Given the description of an element on the screen output the (x, y) to click on. 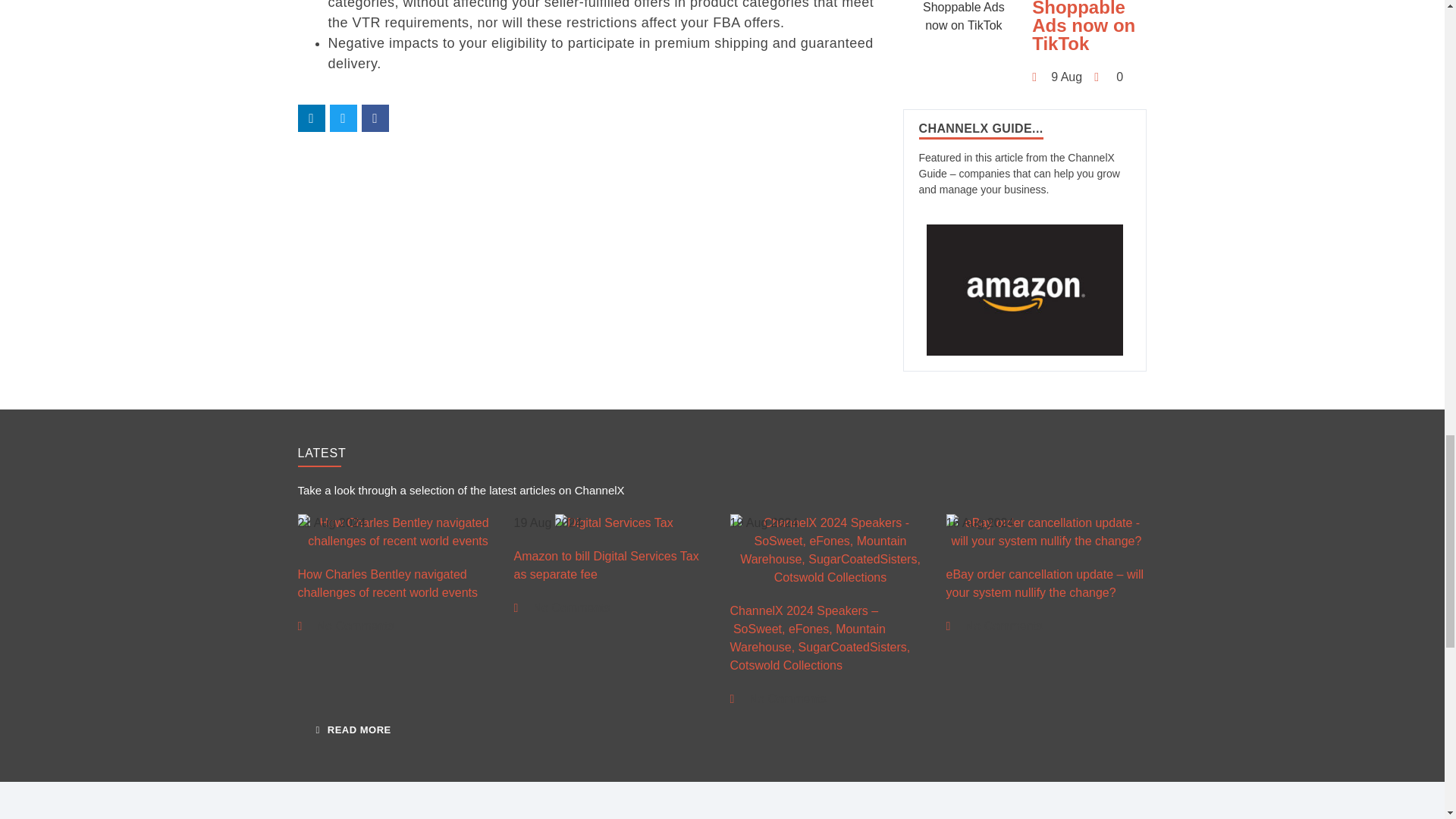
Digital Services Tax (613, 523)
Amazon Shoppable Ads now on TikTok (963, 17)
